Given the description of an element on the screen output the (x, y) to click on. 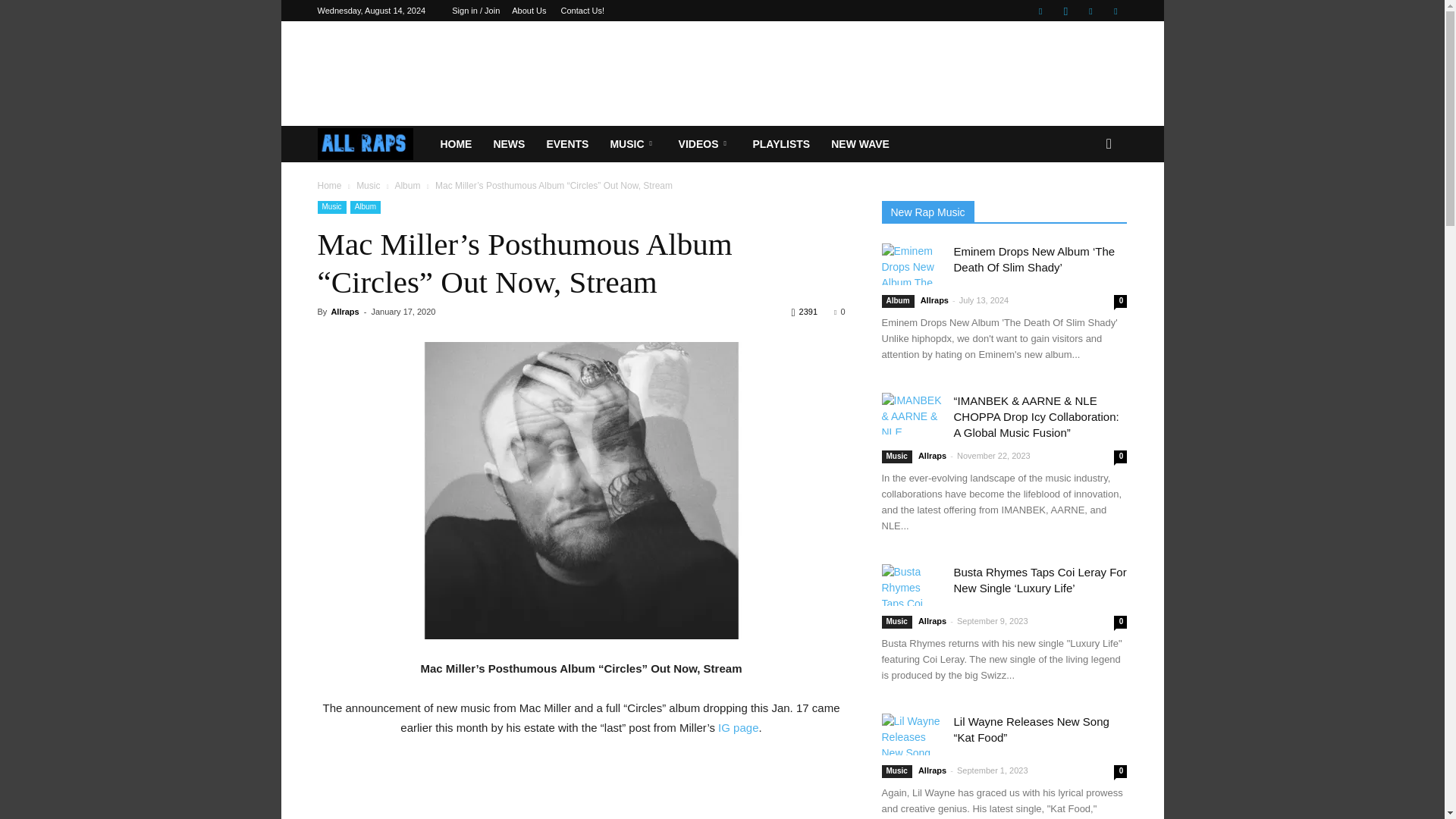
Facebook (1040, 10)
All Raps (373, 143)
Spotify (1090, 10)
Contact Us! (582, 10)
Instagram (1065, 10)
HOME (455, 144)
Hip-Hop And Rap News, New Music, New Videos And More... (365, 144)
About Us (529, 10)
Twitter (1114, 10)
Advertisement (721, 73)
